Given the description of an element on the screen output the (x, y) to click on. 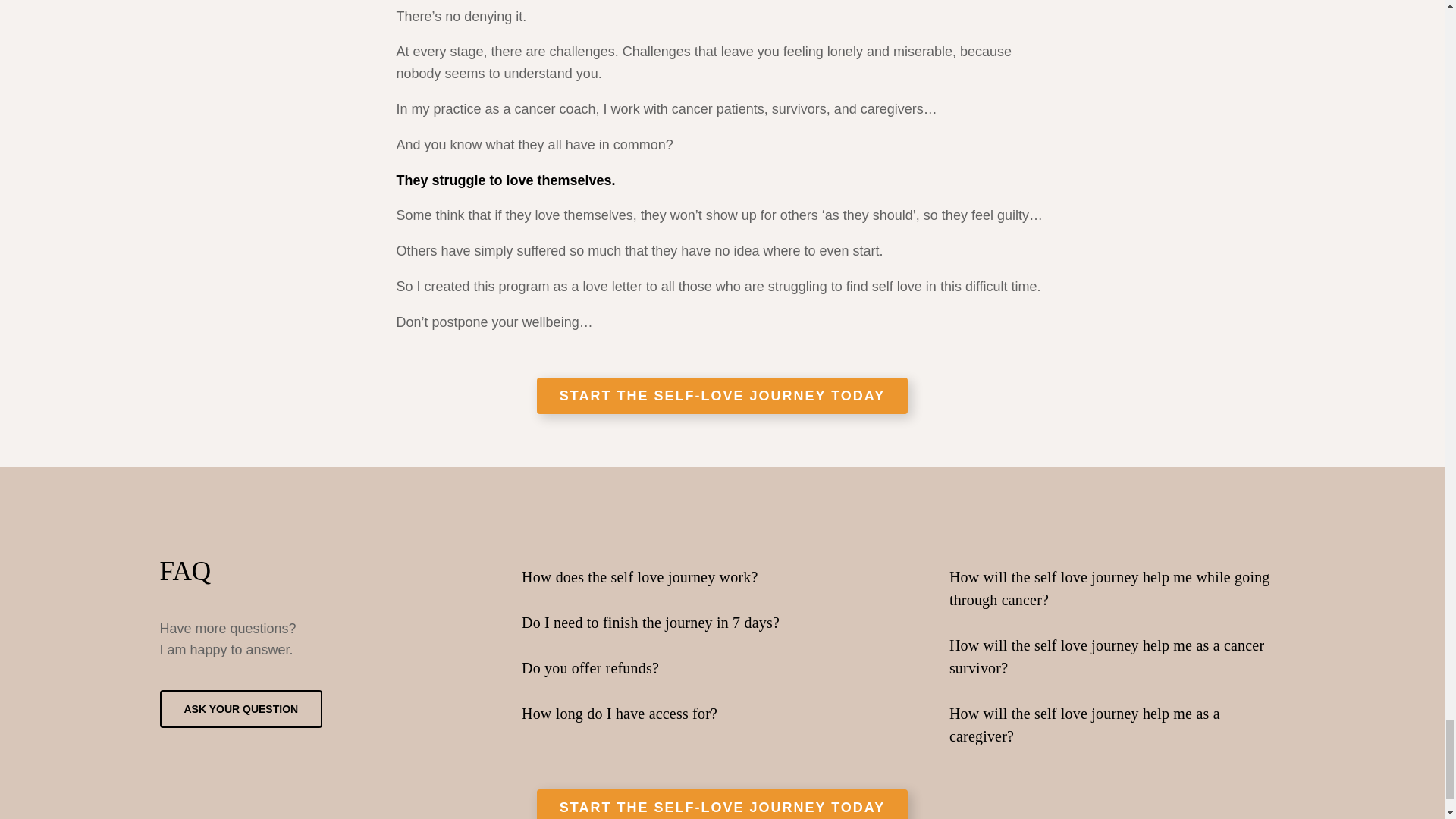
ASK YOUR QUESTION (239, 709)
START THE SELF-LOVE JOURNEY TODAY (722, 395)
START THE SELF-LOVE JOURNEY TODAY (722, 804)
